Given the description of an element on the screen output the (x, y) to click on. 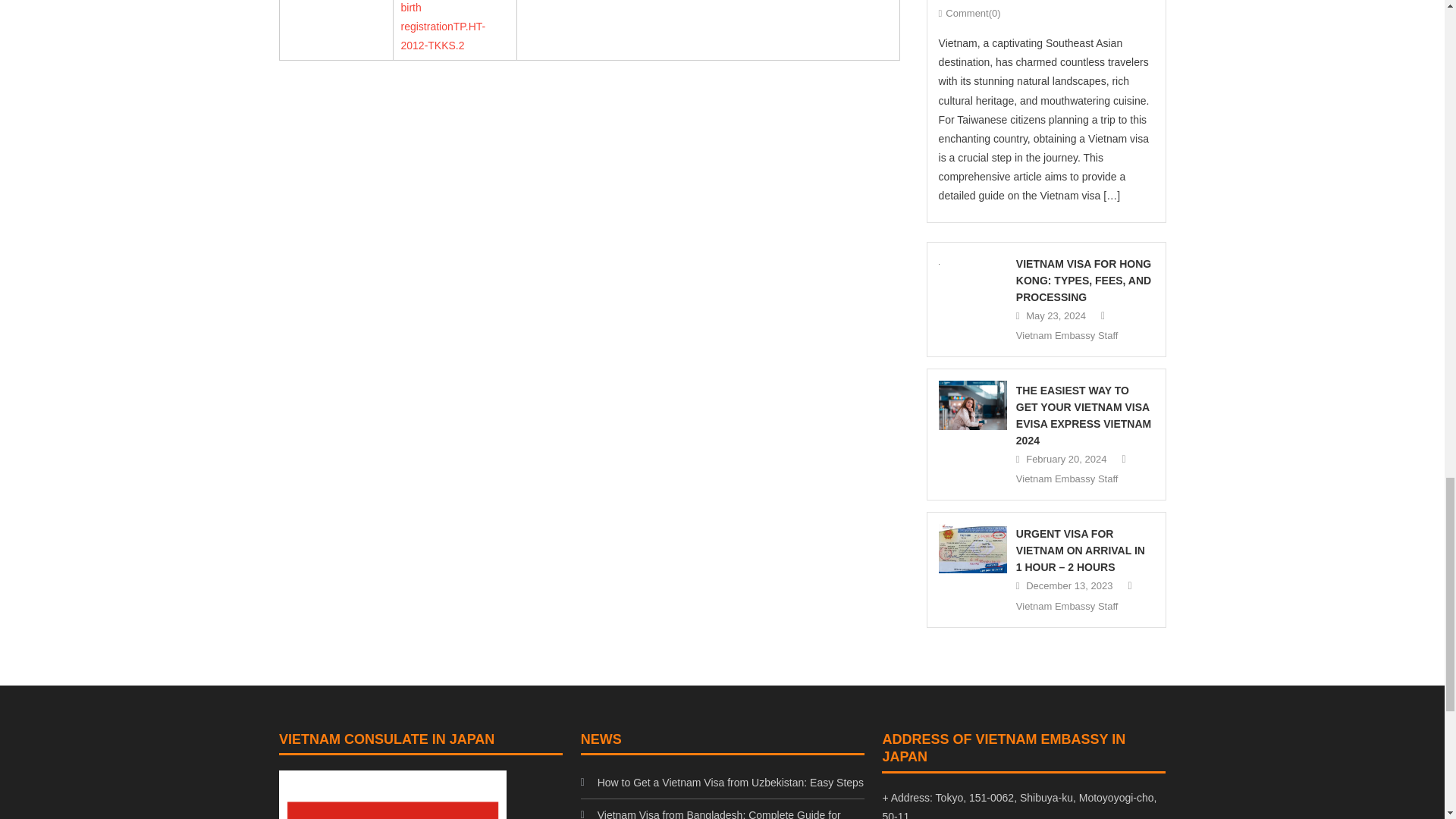
Vietnam Visa for Hong Kong: Types, Fees, and Processing (973, 262)
